Given the description of an element on the screen output the (x, y) to click on. 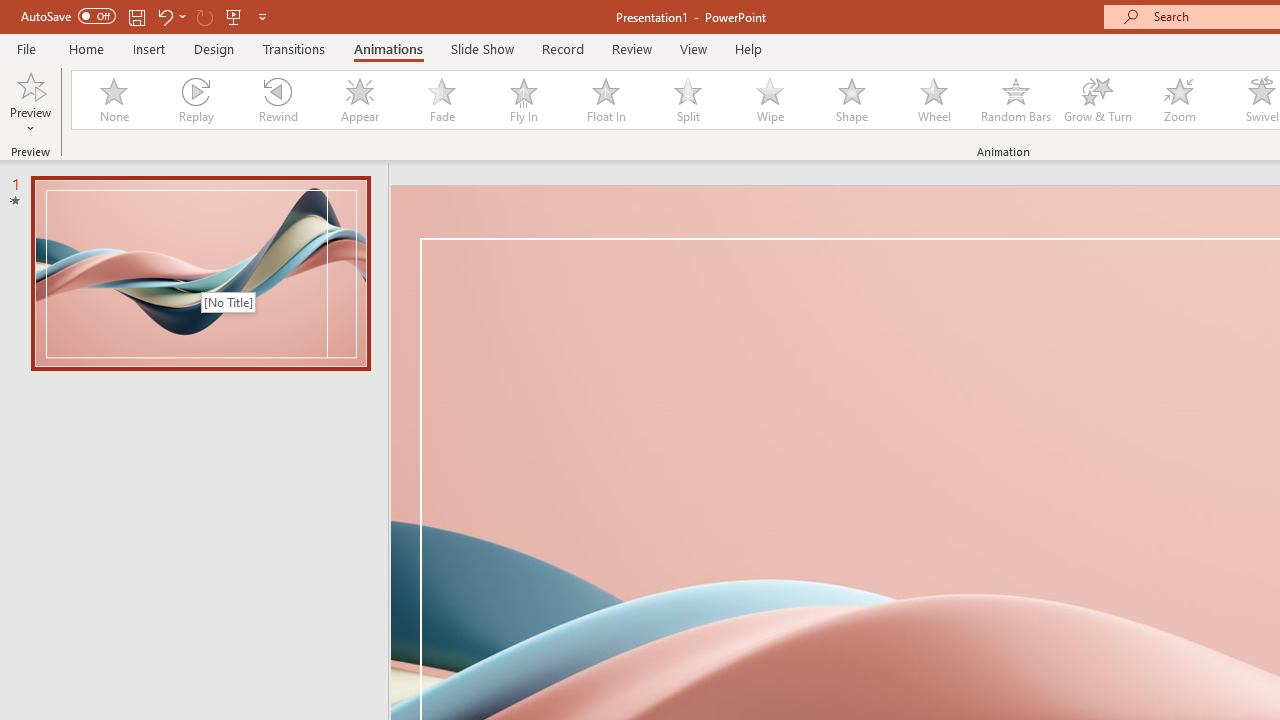
Fly In (523, 100)
Rewind (277, 100)
Grow & Turn (1098, 100)
Wipe (770, 100)
None (113, 100)
